Given the description of an element on the screen output the (x, y) to click on. 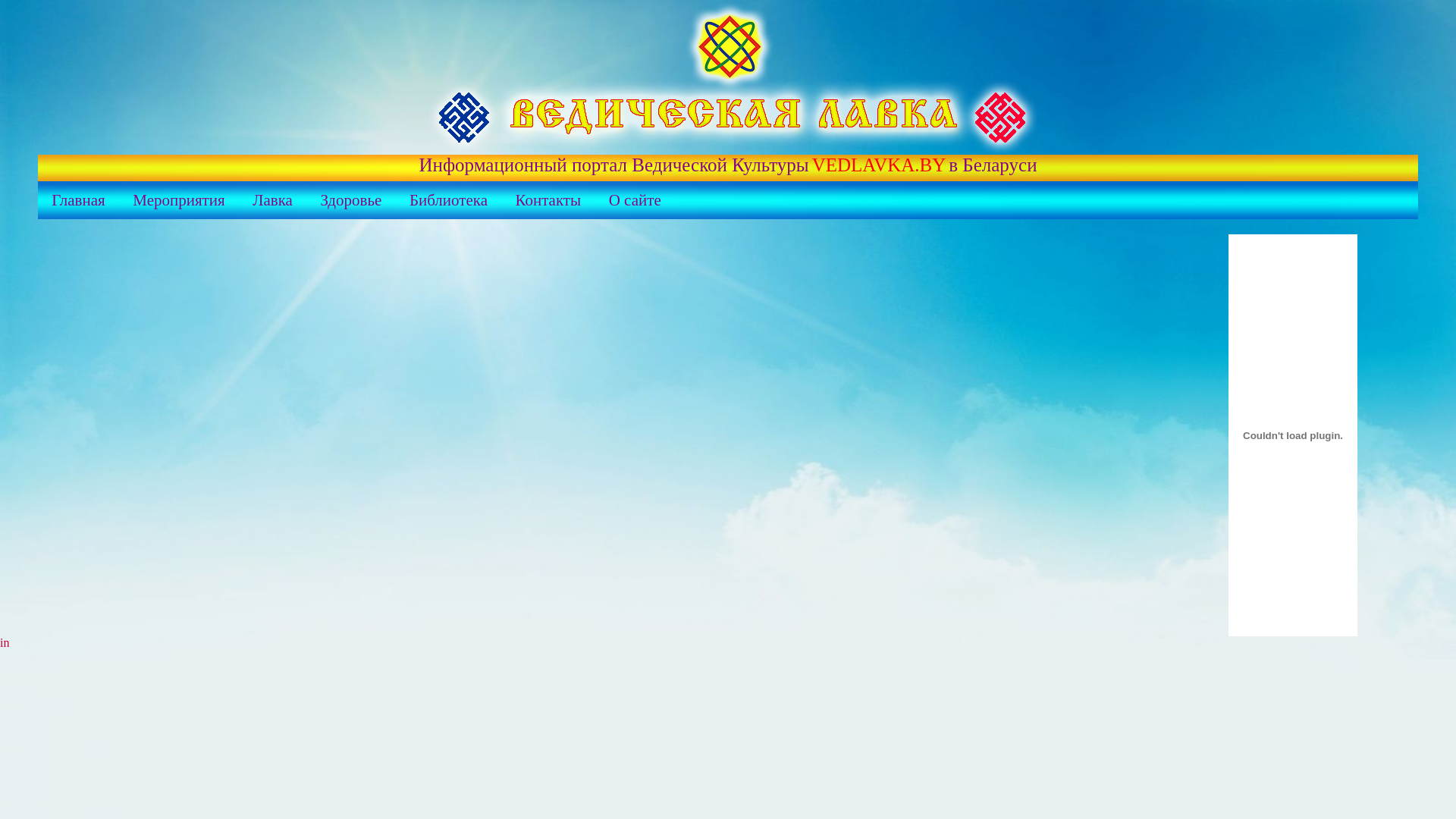
in Element type: text (4, 642)
